Given the description of an element on the screen output the (x, y) to click on. 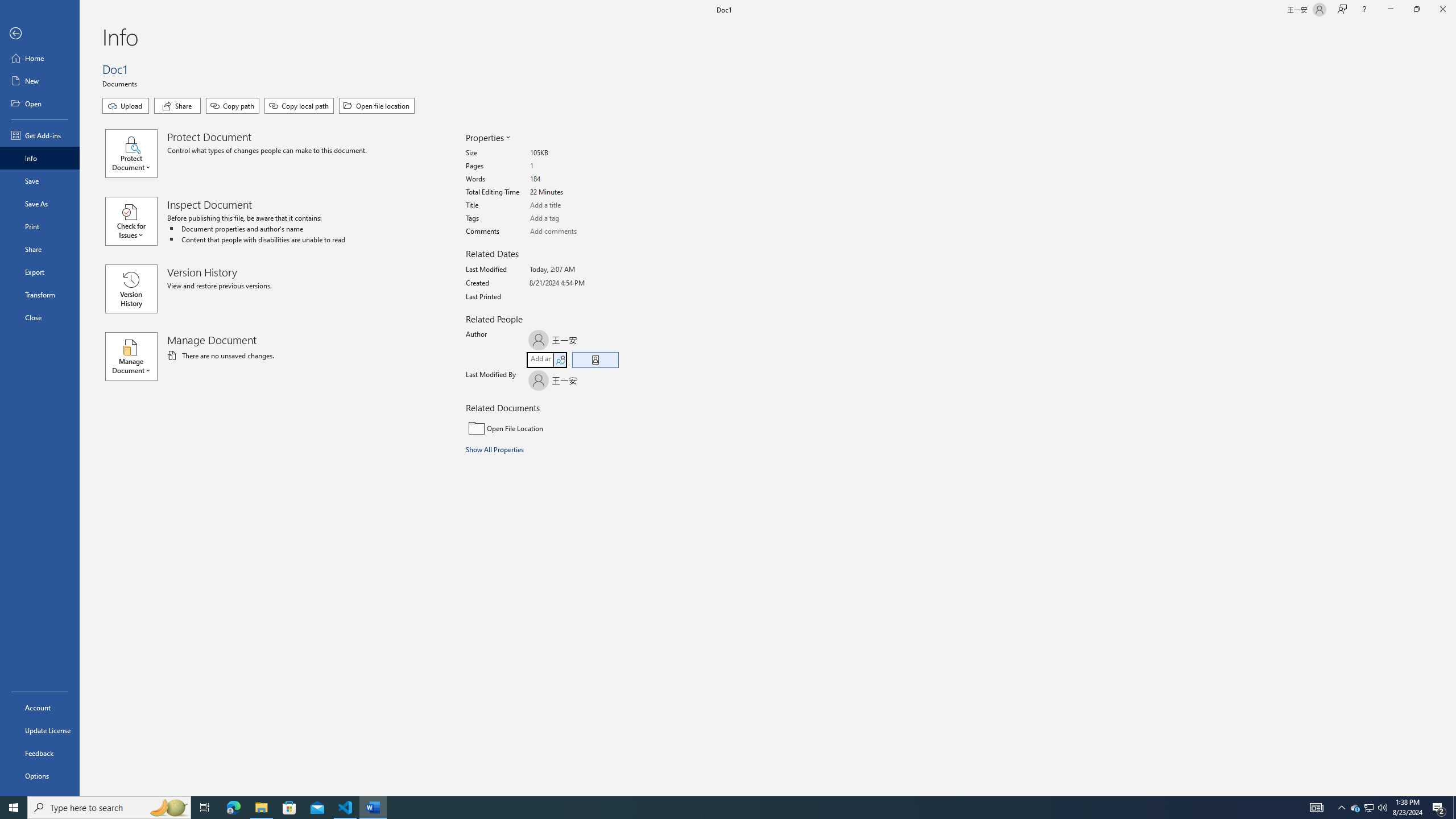
Total Editing Time (572, 192)
Protect Document (135, 153)
Export (40, 271)
Copy path (232, 105)
Feedback (40, 753)
Open file location (376, 105)
Copy local path (298, 105)
Add an author (540, 359)
Show All Properties (495, 448)
Verify Names (559, 359)
Manage Document (135, 356)
